Given the description of an element on the screen output the (x, y) to click on. 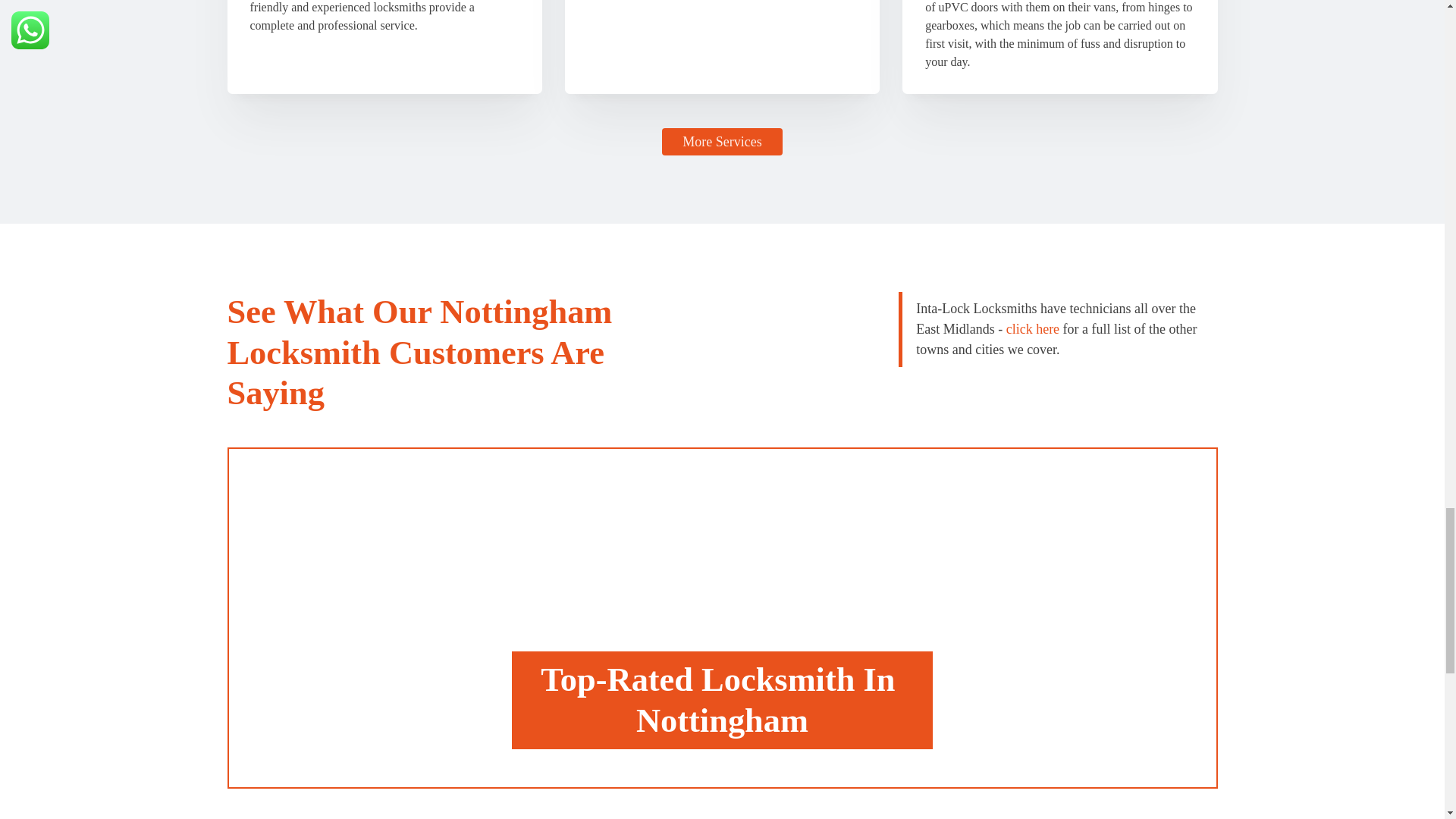
More Services (721, 141)
click here (1032, 329)
